Given the description of an element on the screen output the (x, y) to click on. 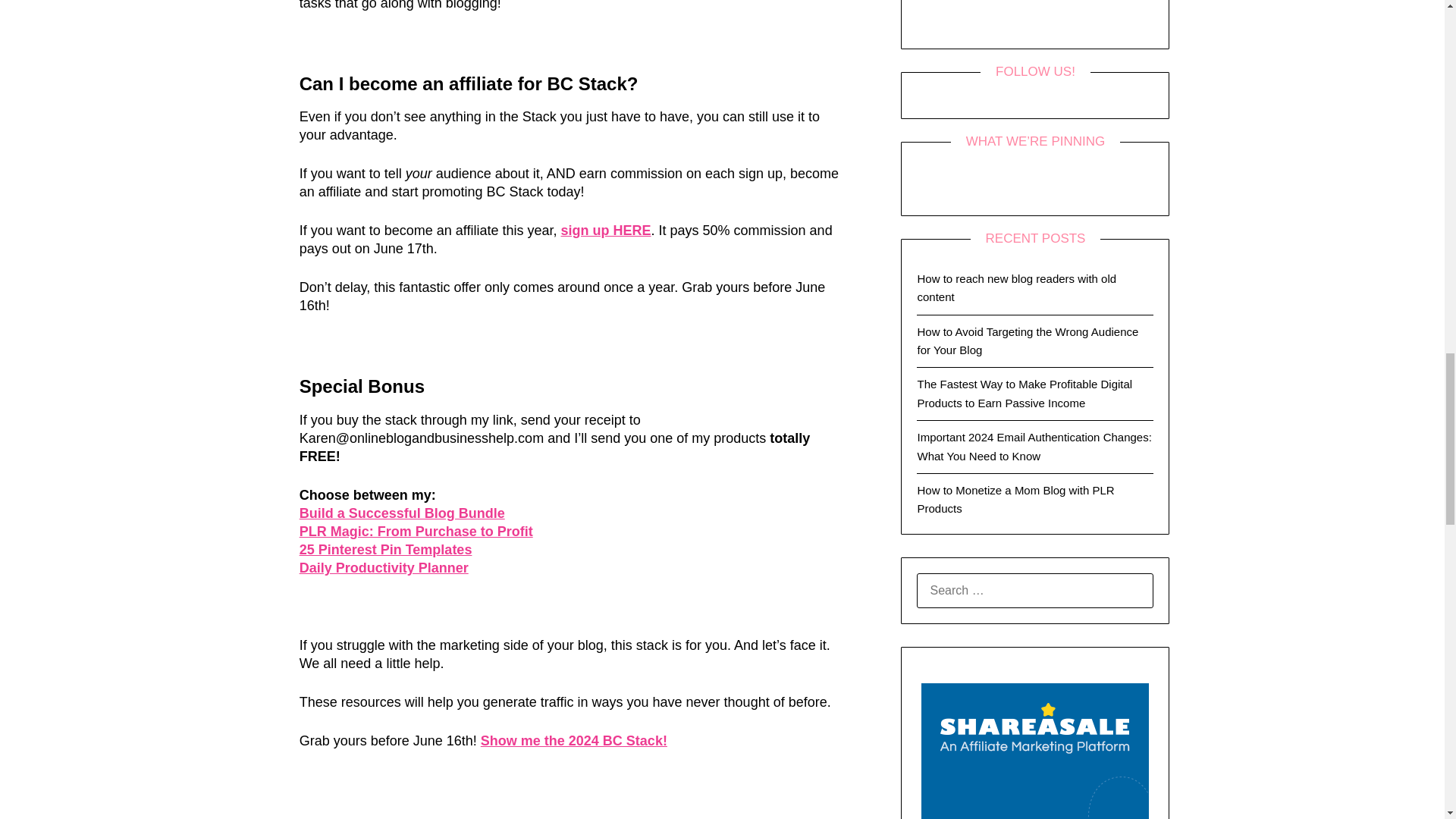
Daily Productivity Planner (383, 567)
25 Pinterest Pin Templates (385, 549)
PLR Magic: From Purchase to Profit (415, 531)
Show me the 2024 BC Stack! (573, 740)
How to reach new blog readers with old content (1016, 287)
sign up HERE (605, 230)
How to Monetize a Mom Blog with PLR Products (1015, 499)
How to Avoid Targeting the Wrong Audience for Your Blog (1027, 340)
